Given the description of an element on the screen output the (x, y) to click on. 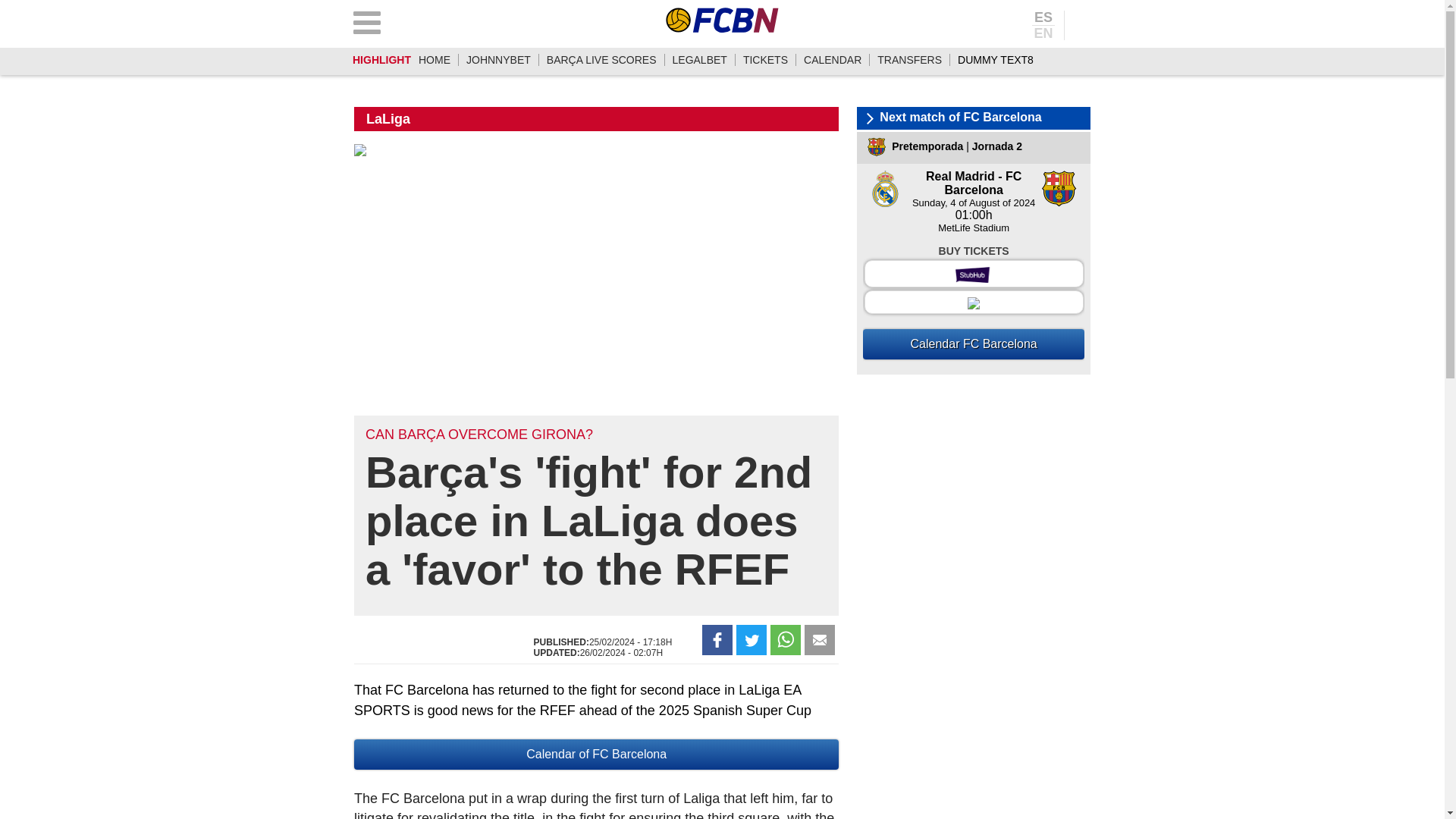
EN (1043, 32)
JOHNNYBET (498, 60)
LEGALBET (699, 60)
TICKETS (764, 60)
Home (434, 60)
Calendar of FC Barcelona (595, 754)
CALENDAR (832, 60)
ES (1043, 17)
LaLiga (388, 118)
FCBN (721, 19)
CALENDAR (832, 60)
Transfers (909, 60)
English (1043, 32)
TRANSFERS (909, 60)
JOHNNEYBET (498, 60)
